Given the description of an element on the screen output the (x, y) to click on. 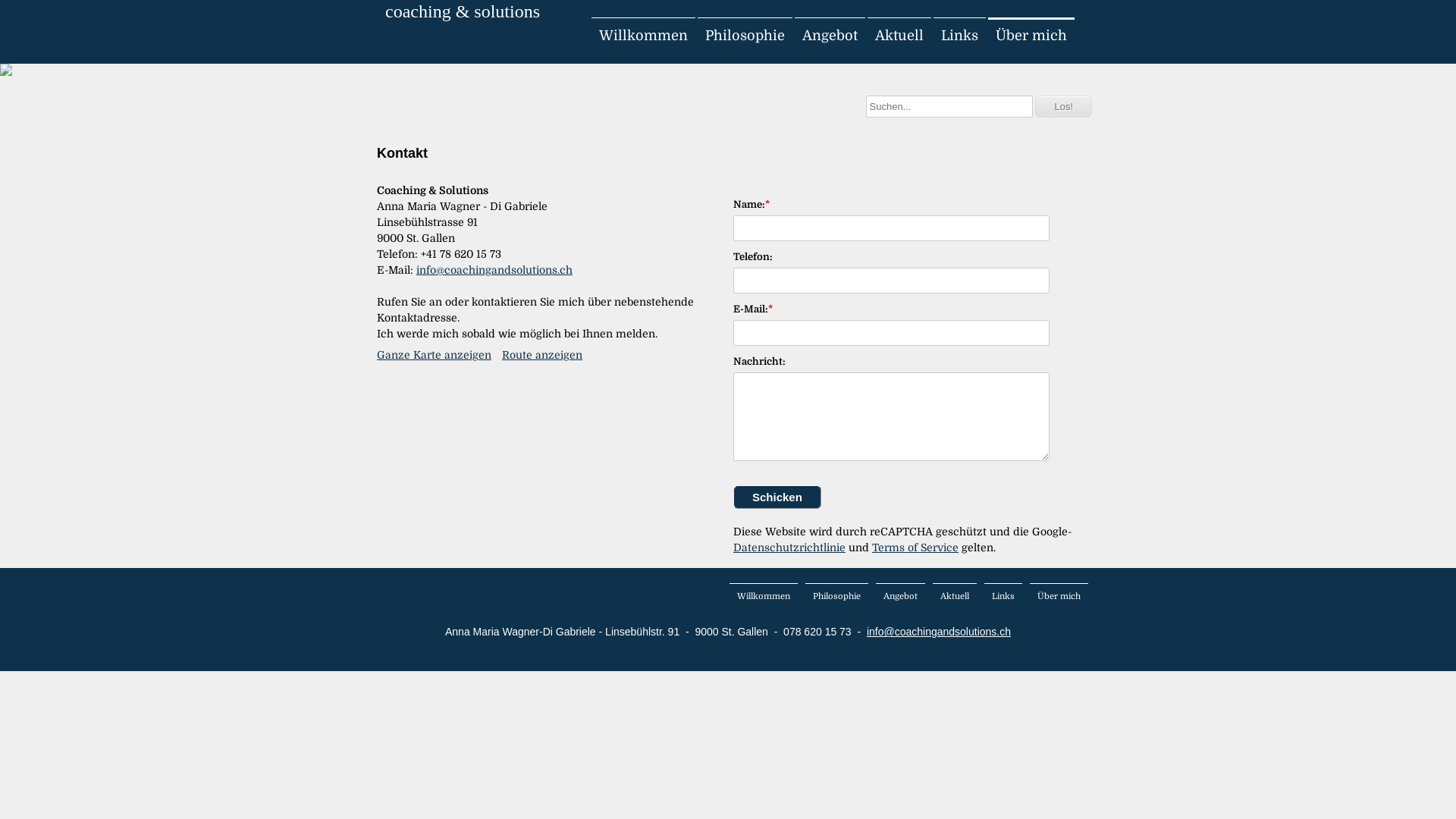
Angebot Element type: text (900, 595)
Los! Element type: text (1063, 106)
Ganze Karte anzeigen Element type: text (433, 354)
coaching & solutions Element type: text (462, 11)
Angebot Element type: text (829, 35)
Willkommen Element type: text (763, 595)
Datenschutzrichtlinie Element type: text (789, 547)
Willkommen Element type: text (643, 35)
info@coachingandsolutions.ch Element type: text (938, 631)
Route anzeigen Element type: text (542, 354)
Philosophie Element type: text (744, 35)
Philosophie Element type: text (836, 595)
Terms of Service Element type: text (915, 547)
info@coachingandsolutions.ch Element type: text (494, 269)
Links Element type: text (1003, 595)
Aktuell Element type: text (954, 595)
Aktuell Element type: text (899, 35)
Schicken Element type: text (777, 496)
Links Element type: text (959, 35)
